Given the description of an element on the screen output the (x, y) to click on. 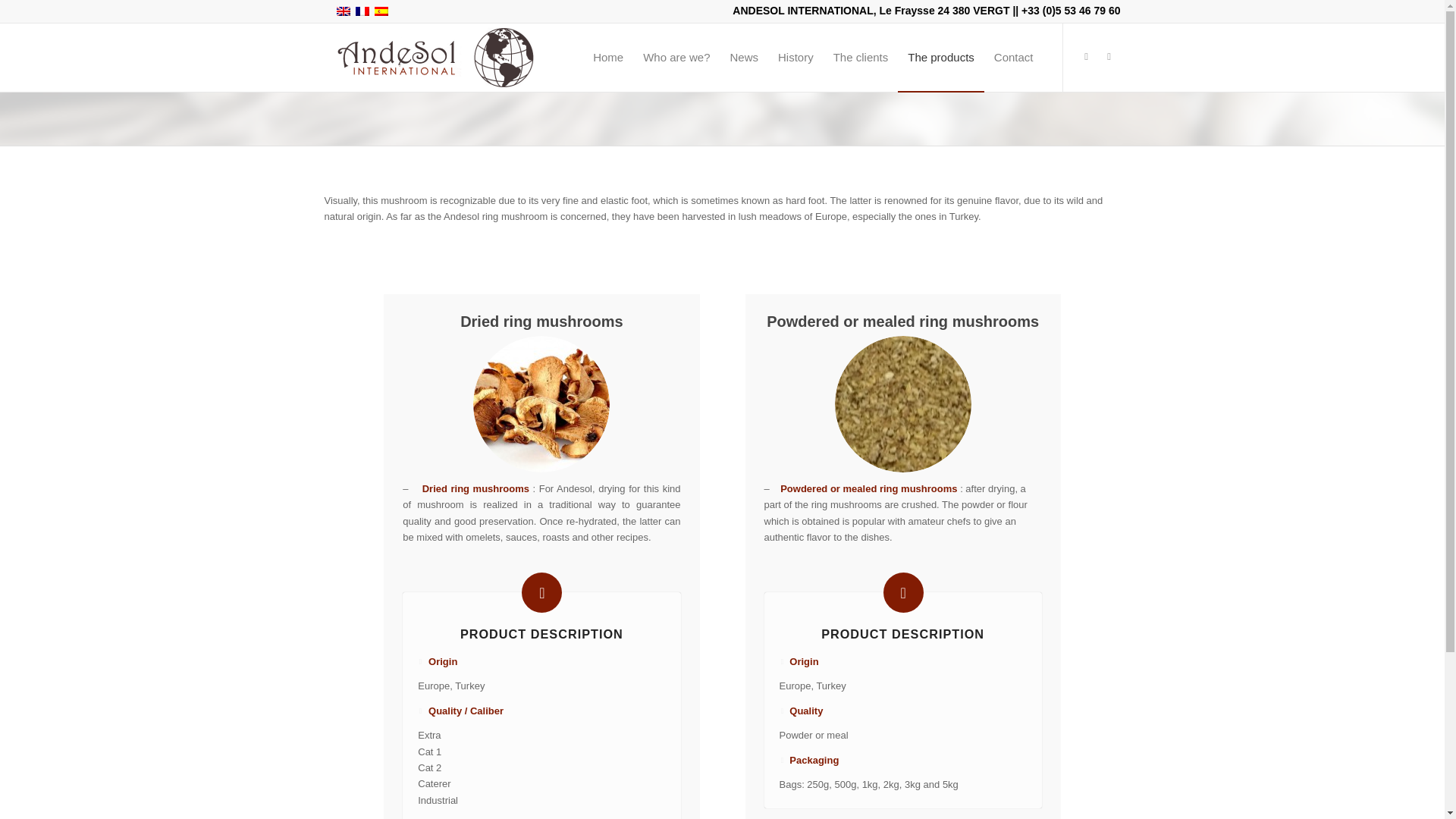
Who are we? (676, 57)
The clients (861, 57)
The products (941, 57)
English (342, 10)
Mousserons (541, 403)
Mail (1109, 56)
Facebook (1086, 56)
Capture 033 (902, 403)
